Given the description of an element on the screen output the (x, y) to click on. 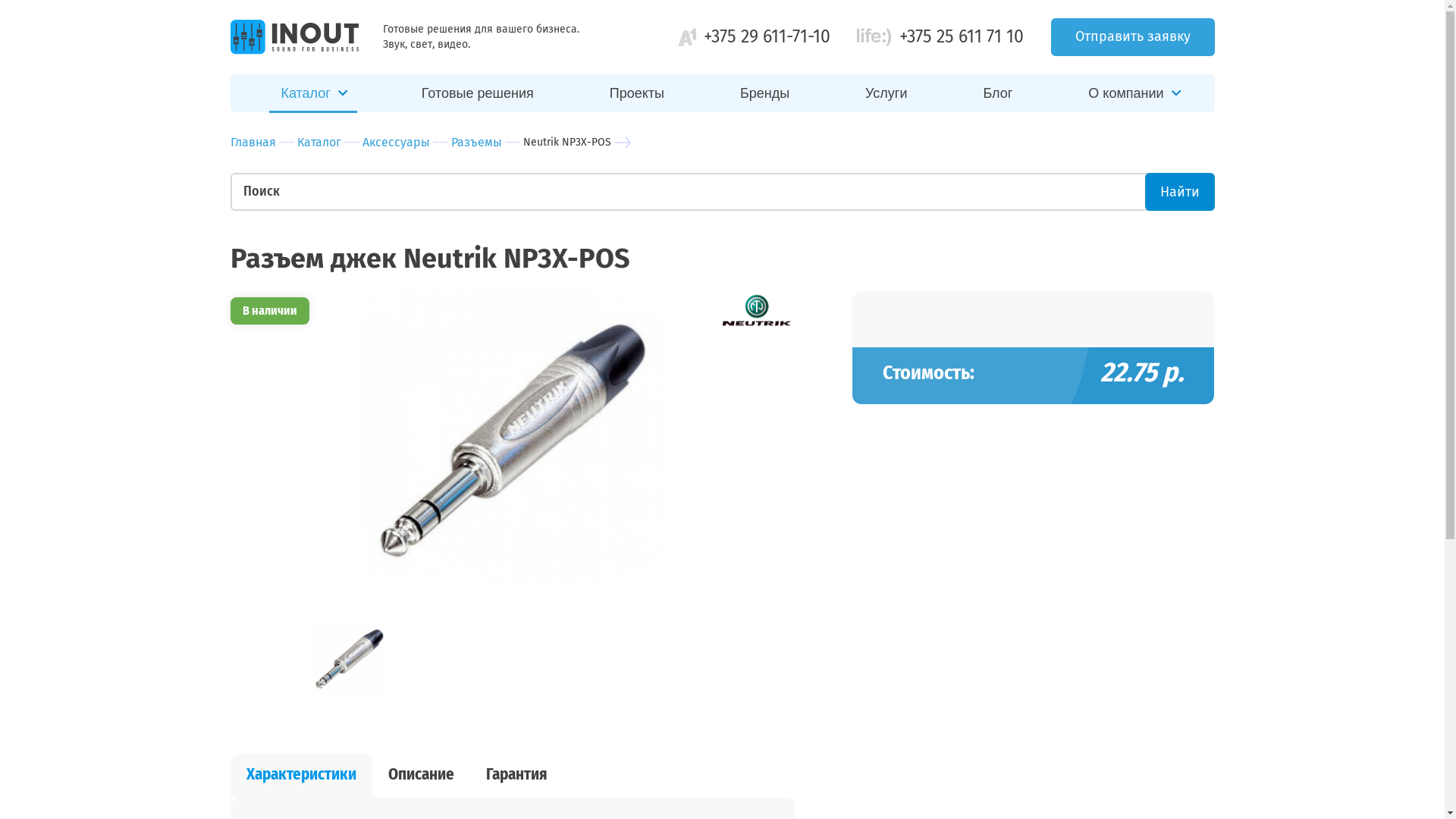
+375 25 611 71 10 Element type: text (961, 36)
+375 29 611-71-10 Element type: text (766, 36)
